Given the description of an element on the screen output the (x, y) to click on. 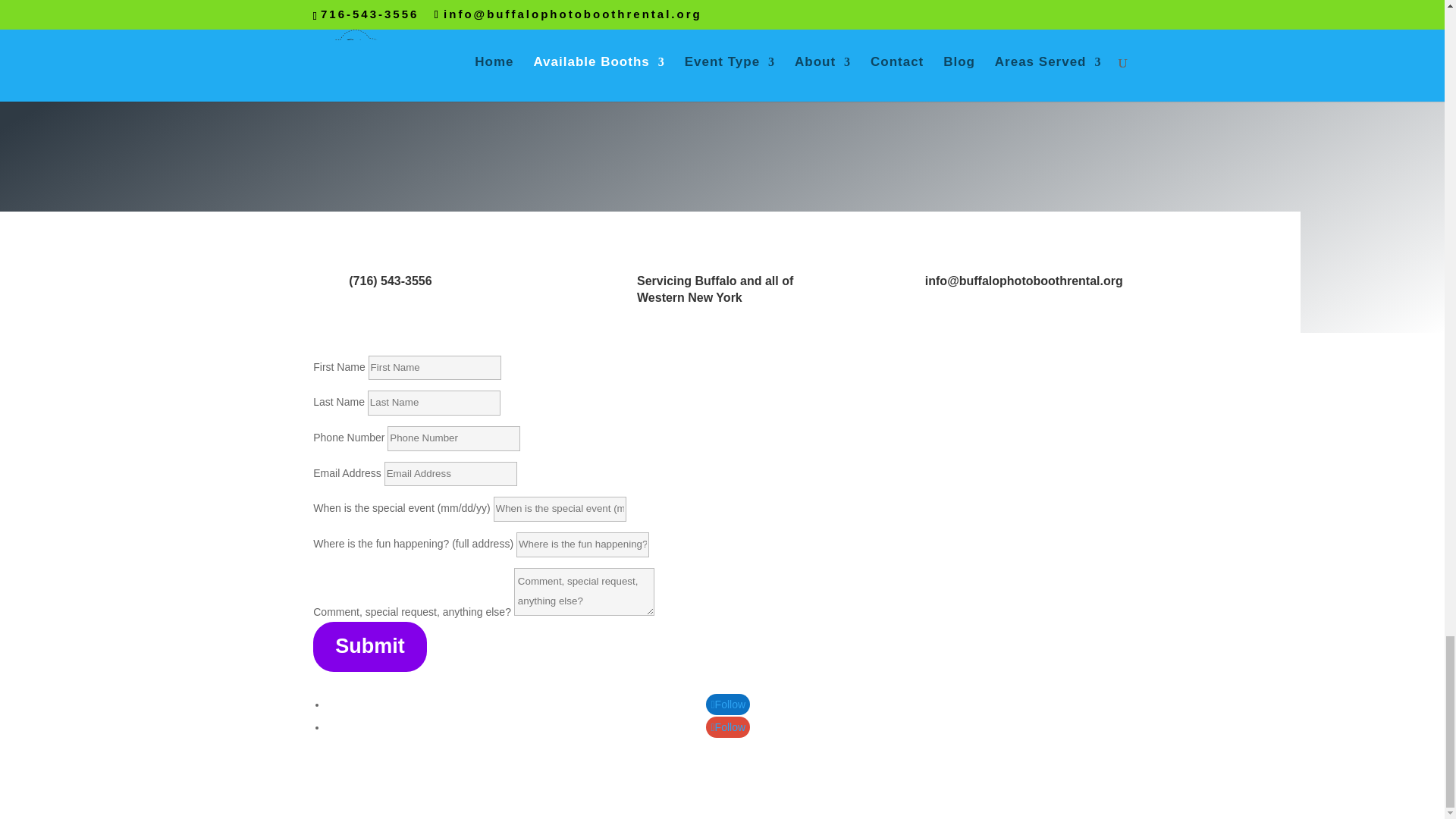
Follow on Facebook (727, 703)
